Given the description of an element on the screen output the (x, y) to click on. 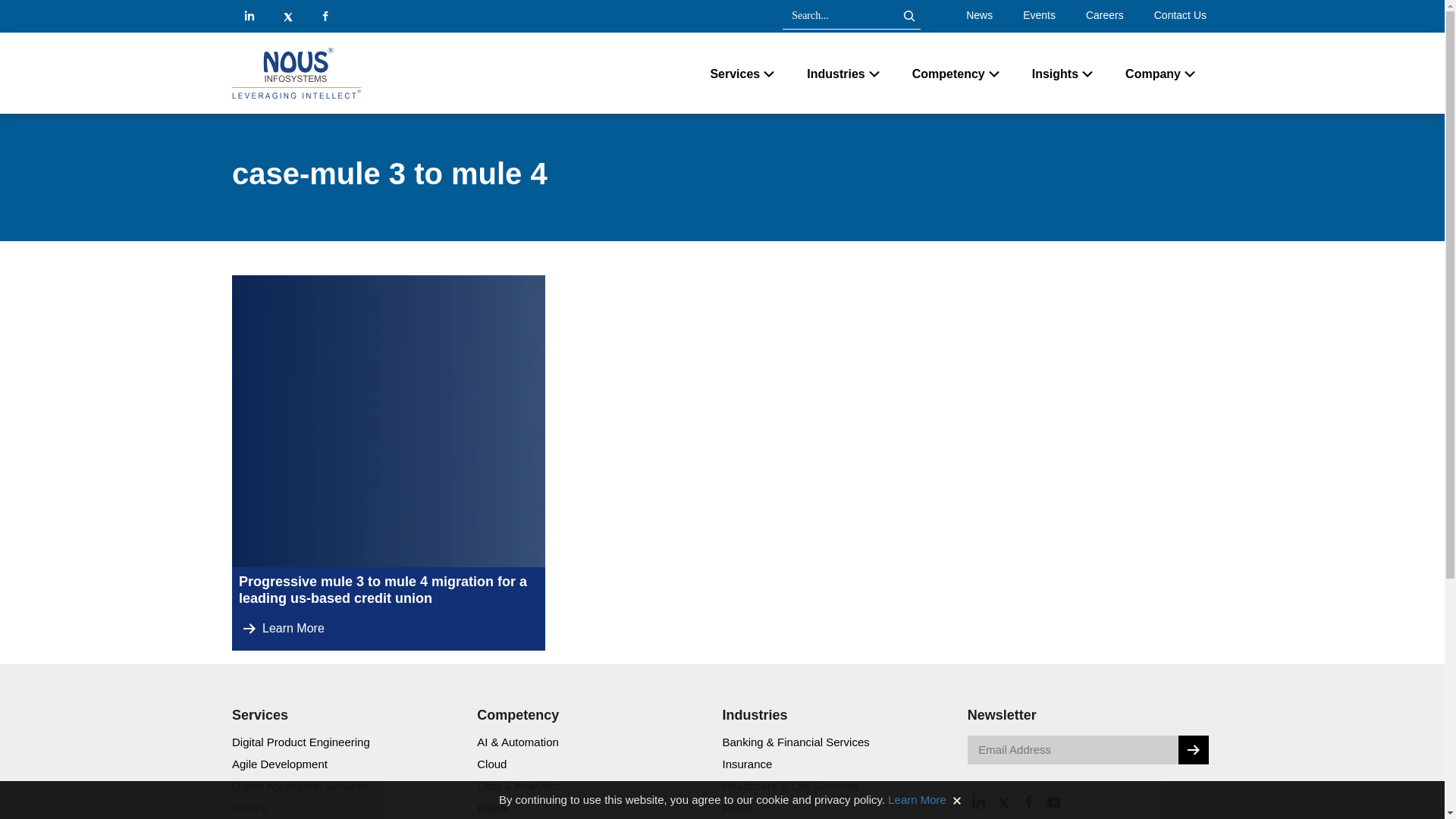
News (979, 14)
Contact Us (1179, 14)
Careers (1104, 14)
Events (1039, 14)
. (1192, 749)
